Given the description of an element on the screen output the (x, y) to click on. 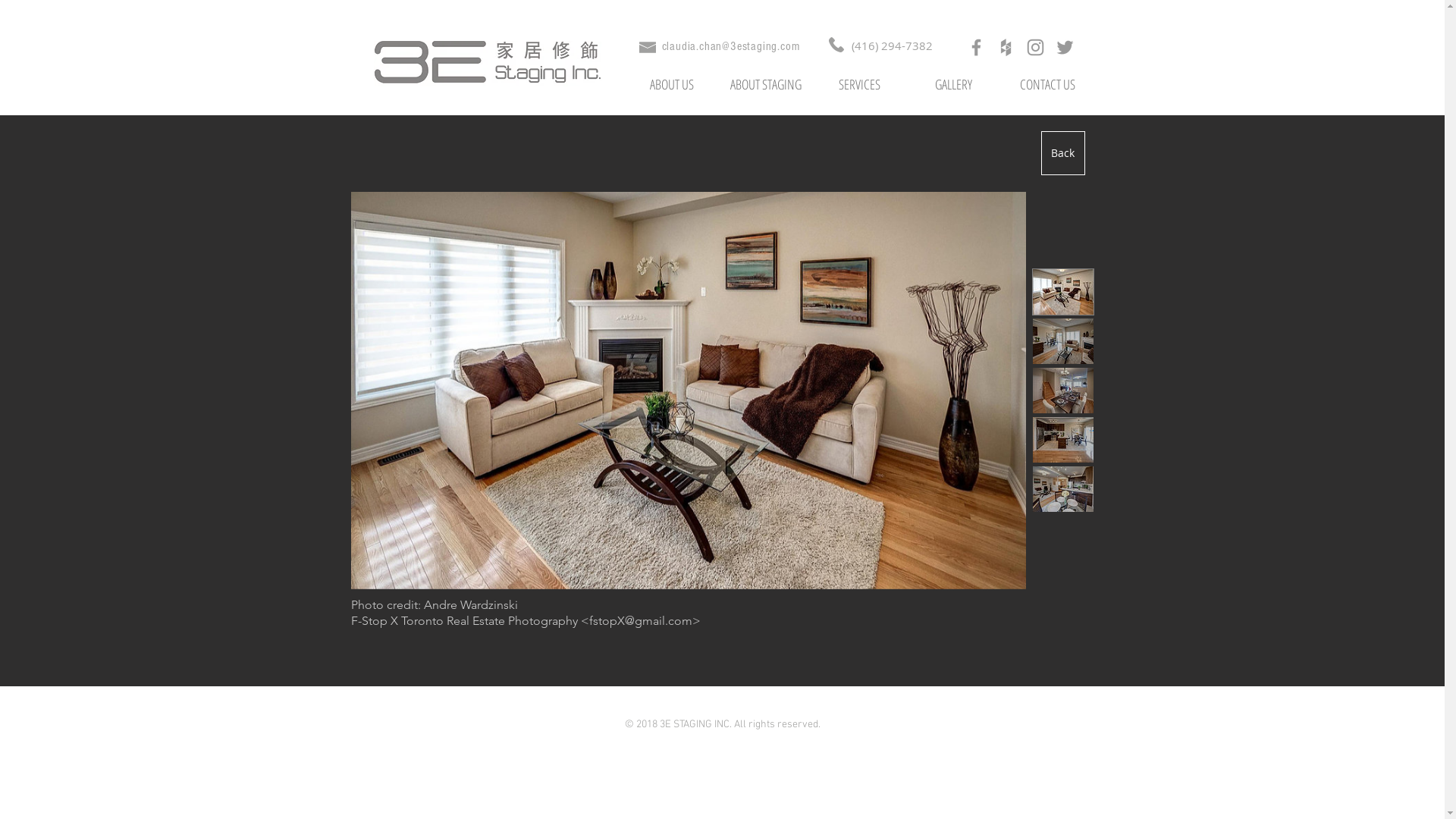
claudia.chan@3estaging.com Element type: text (730, 46)
ABOUT US Element type: text (671, 84)
ABOUT STAGING Element type: text (765, 84)
SERVICES Element type: text (859, 84)
(416) 294-7382 Element type: text (890, 46)
Back Element type: text (1062, 153)
CONTACT US Element type: text (1048, 84)
GALLERY Element type: text (953, 84)
